Given the description of an element on the screen output the (x, y) to click on. 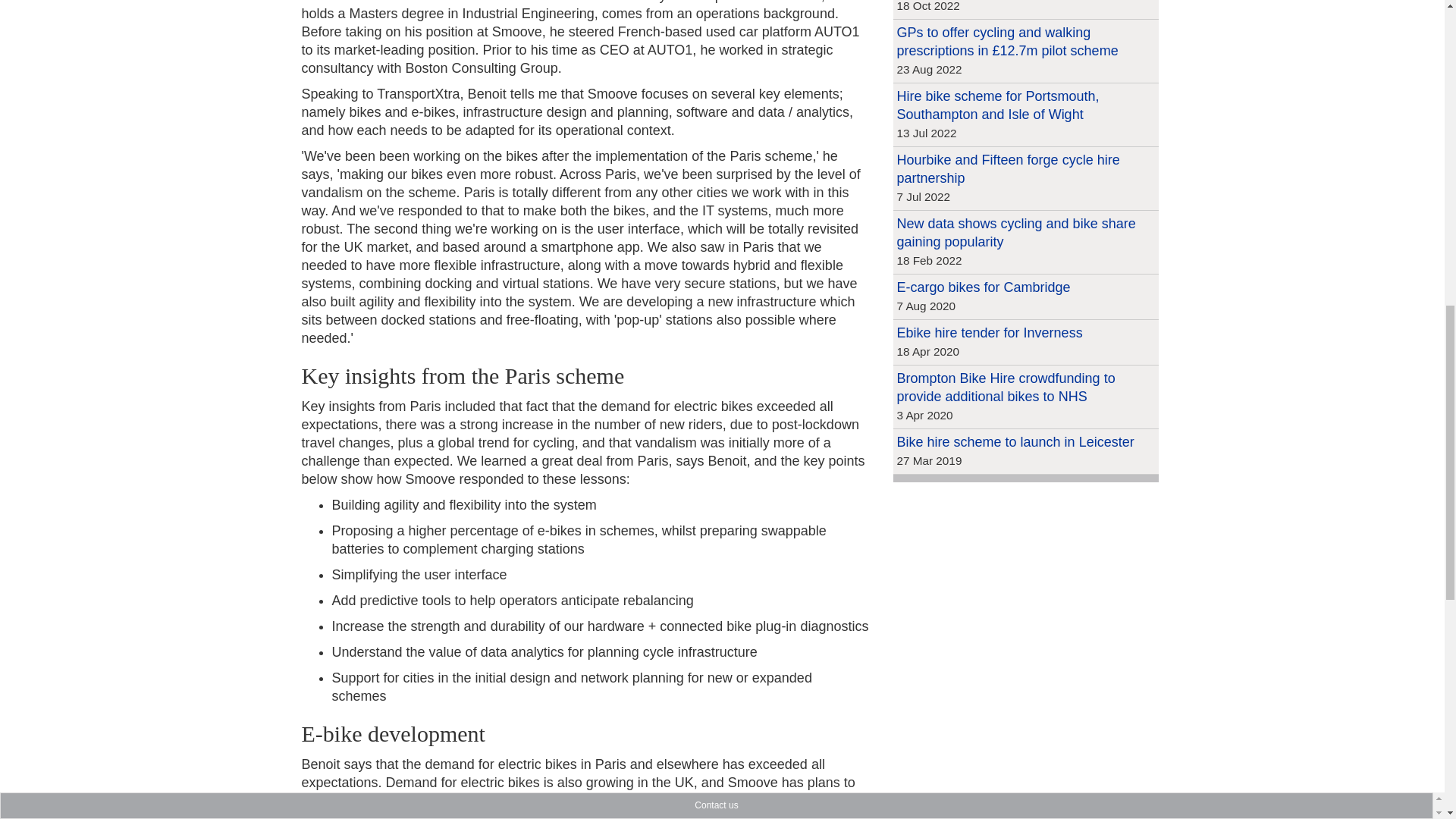
Read more about E-cargo bikes for Cambridge (983, 287)
Read more about Bike hire scheme to launch in Leicester (1015, 441)
Read more about Ebike hire tender for Inverness (988, 332)
